Given the description of an element on the screen output the (x, y) to click on. 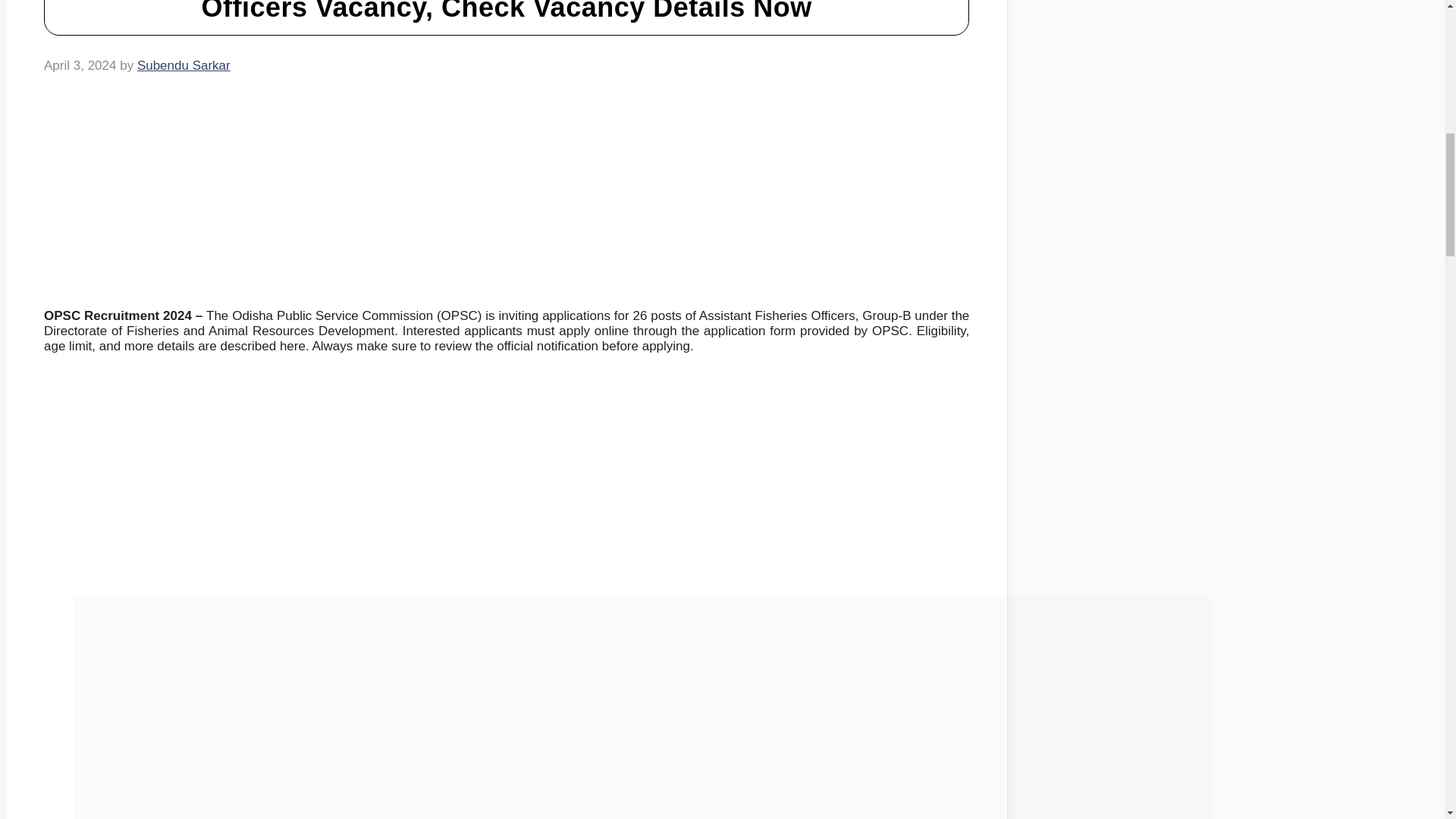
View all posts by Subendu Sarkar (183, 65)
Subendu Sarkar (183, 65)
